Given the description of an element on the screen output the (x, y) to click on. 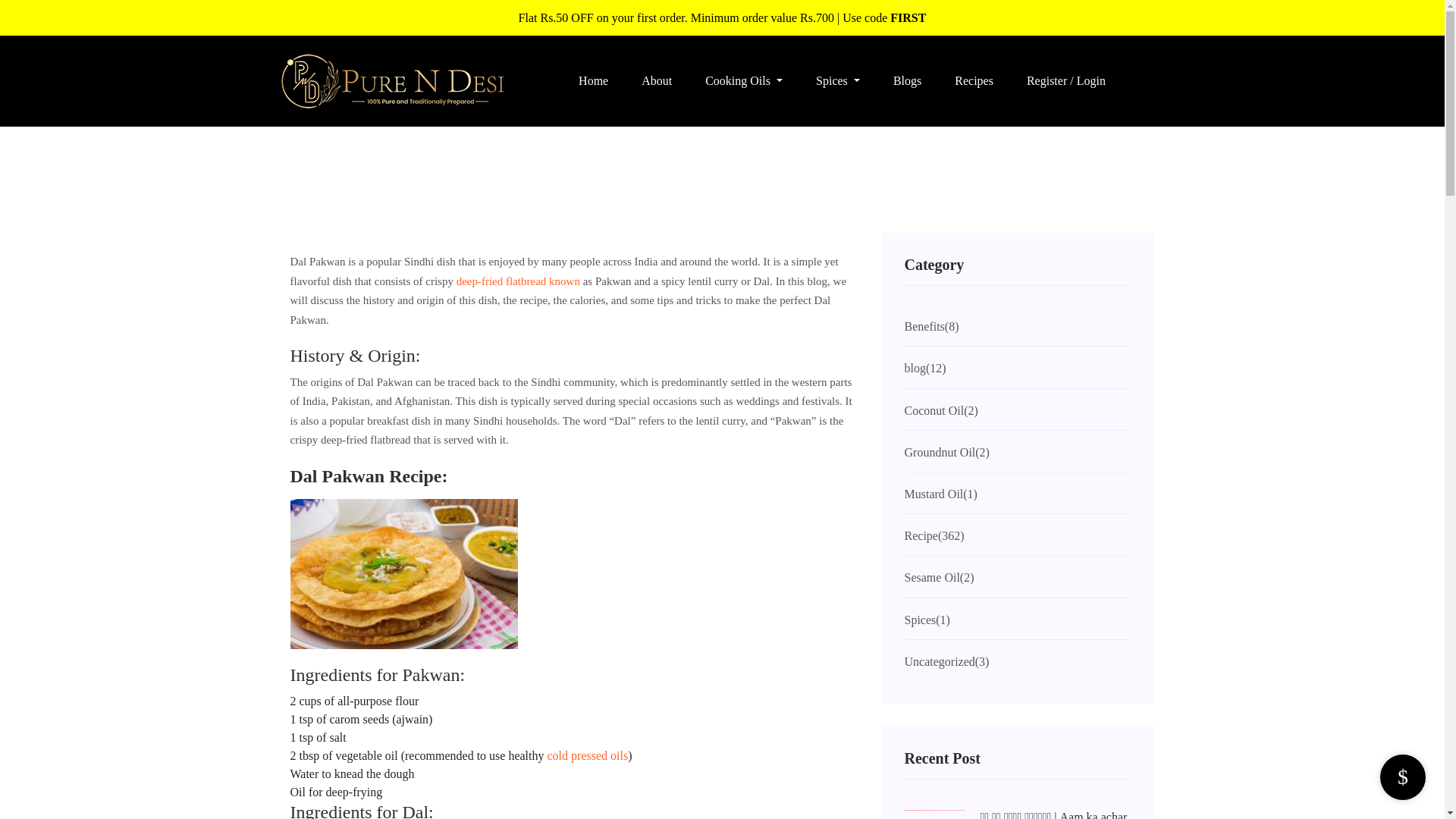
Blogs (906, 81)
Spices (837, 81)
Home (593, 81)
About (656, 81)
Cooking Oils (743, 81)
Recipes (973, 81)
deep-fried flatbread known (518, 281)
cold pressed oils (587, 755)
